Given the description of an element on the screen output the (x, y) to click on. 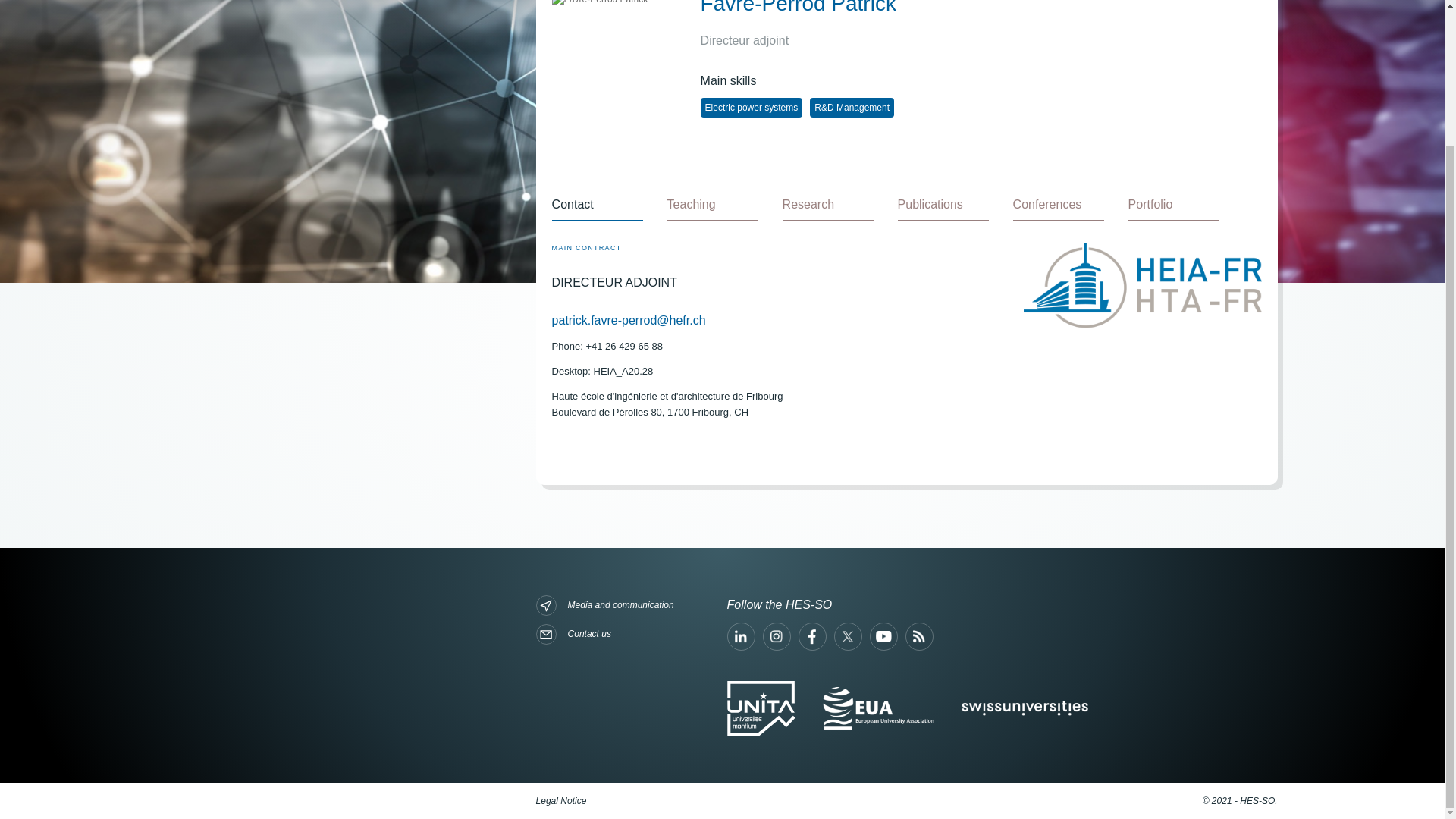
Publications (943, 204)
HEIA-FR (1142, 286)
Contact (597, 204)
Portfolio (1174, 204)
Research (828, 204)
www.swissuniversities.ch (1023, 708)
Teaching (712, 204)
univ-unita.eu (760, 707)
www.eua.be (878, 708)
Electric power systems (751, 107)
